Given the description of an element on the screen output the (x, y) to click on. 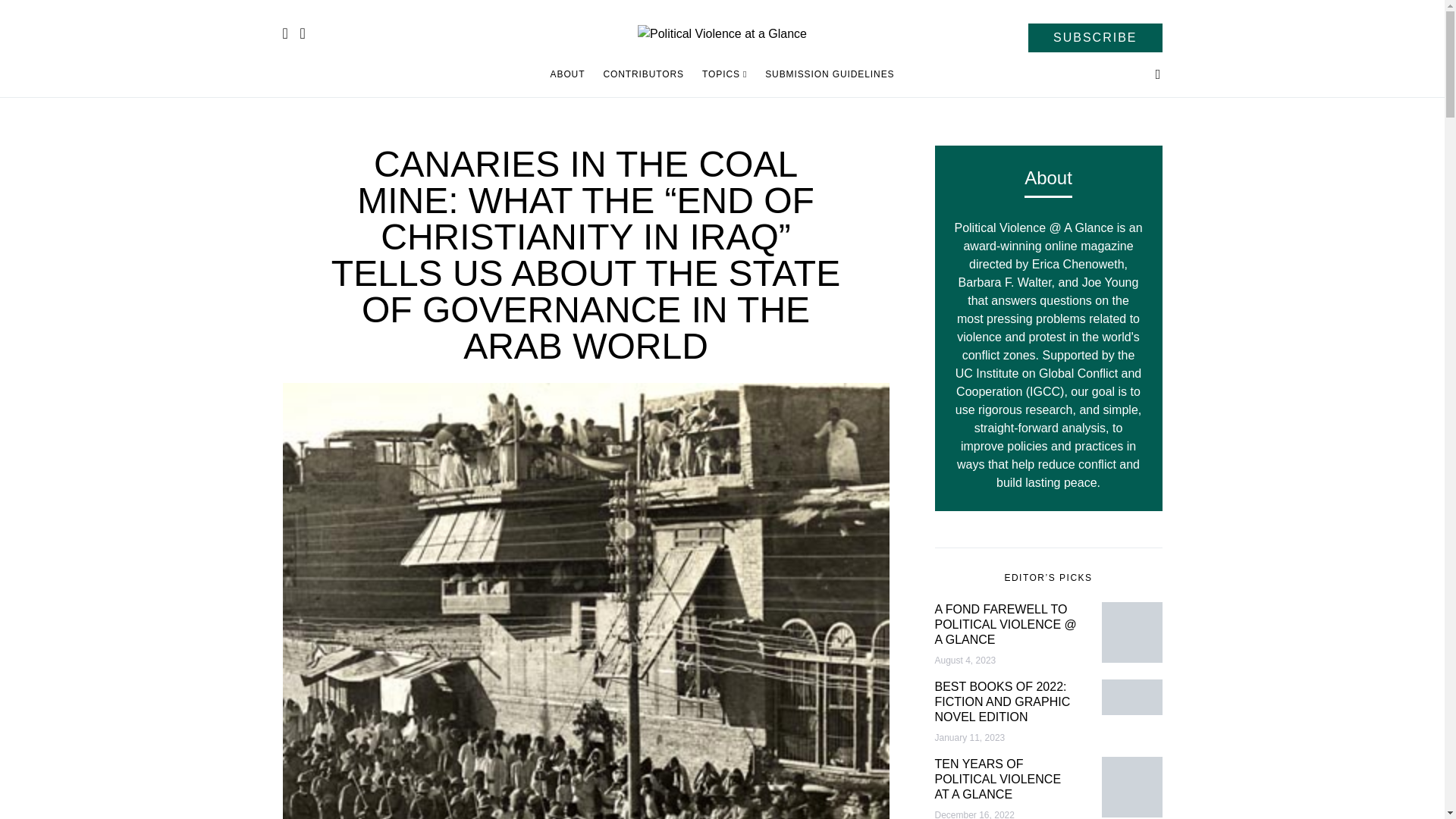
TOPICS (724, 74)
SUBSCRIBE (1094, 37)
CONTRIBUTORS (643, 74)
ABOUT (572, 74)
